Given the description of an element on the screen output the (x, y) to click on. 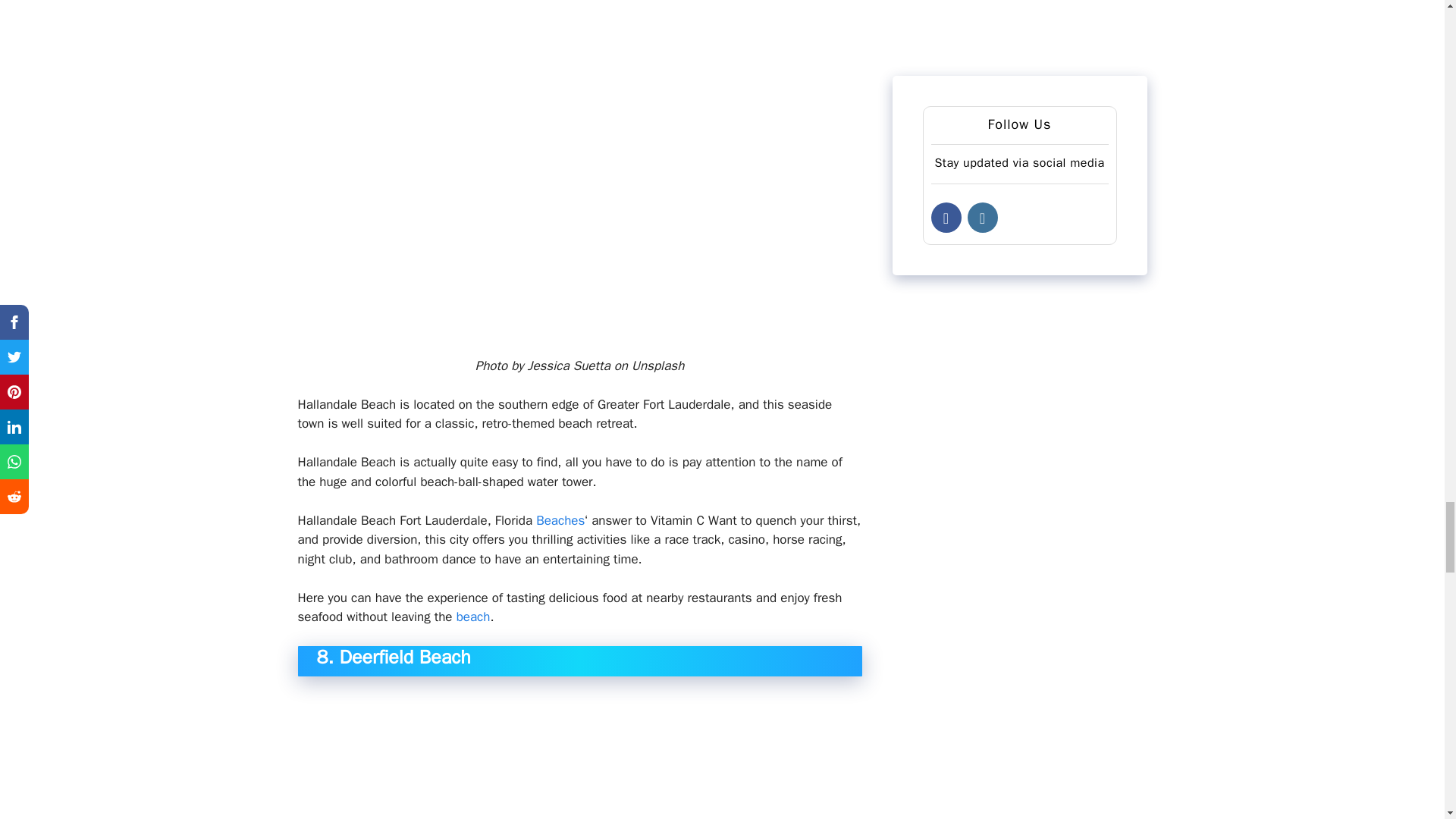
Best Beaches In Fort Lauderdale 9 (579, 755)
